Given the description of an element on the screen output the (x, y) to click on. 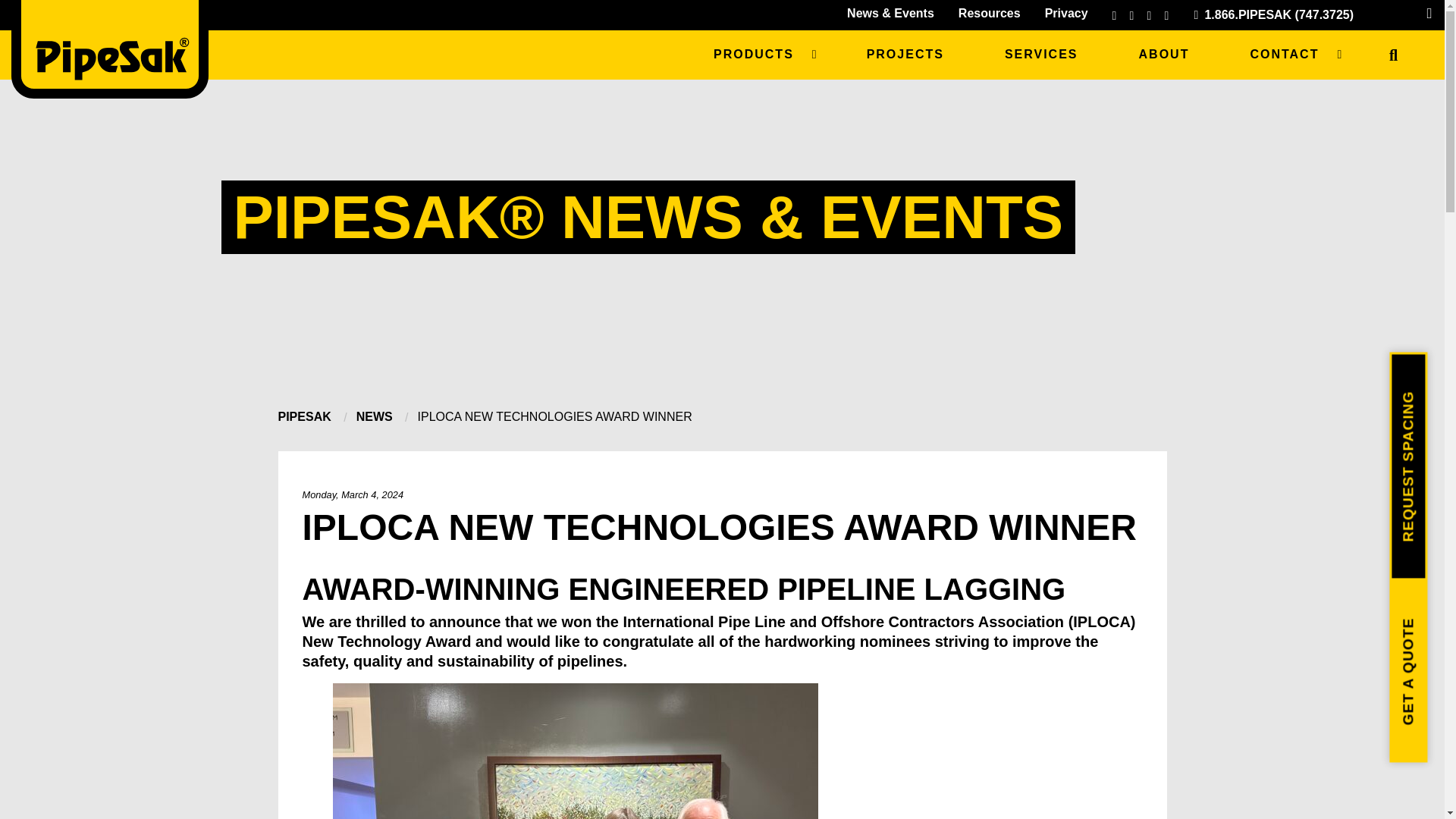
Search (1393, 54)
Privacy (1066, 13)
PRODUCTS (758, 54)
Resources (989, 13)
